Given the description of an element on the screen output the (x, y) to click on. 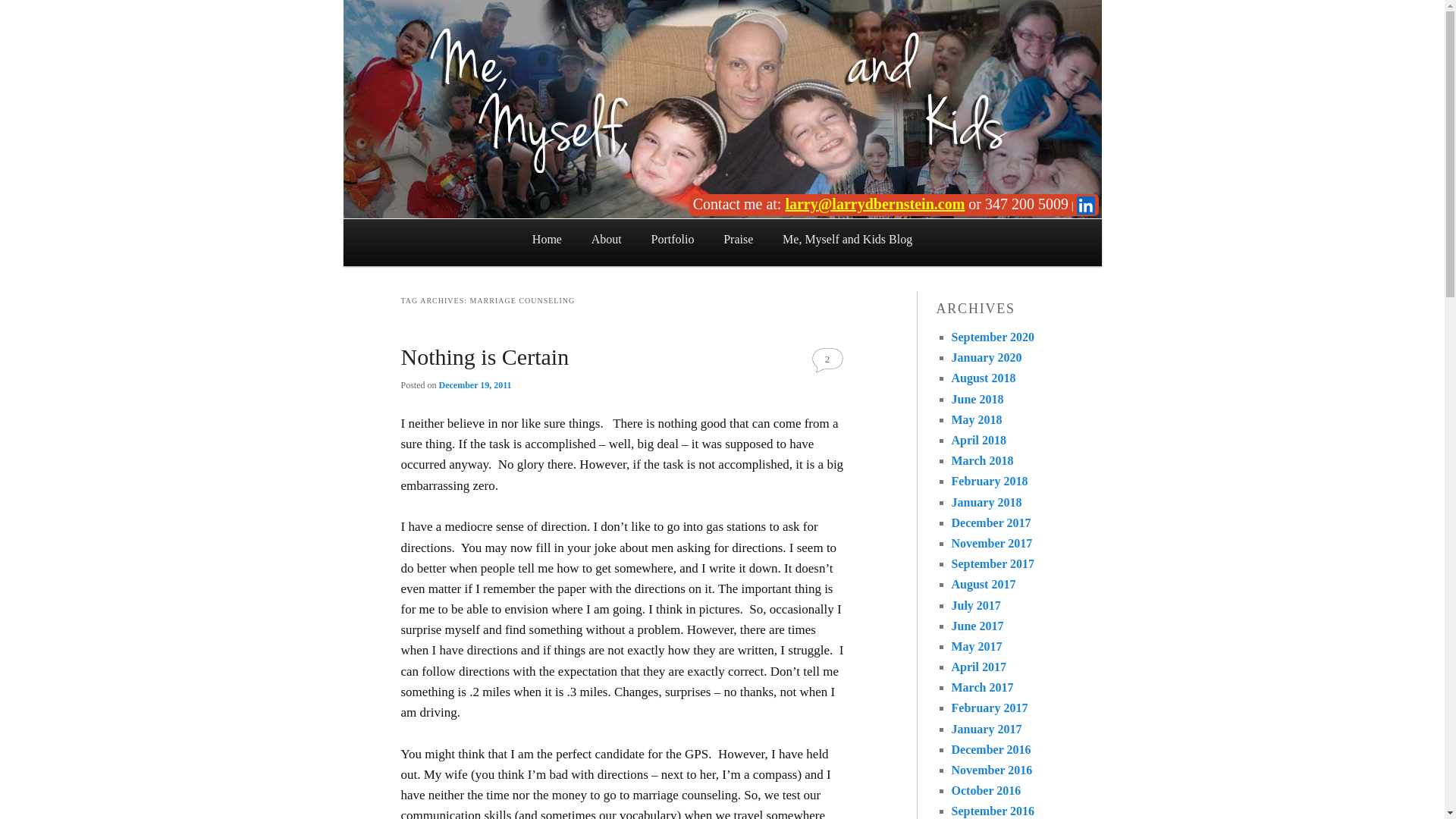
2 (827, 359)
March 2018 (981, 460)
April 2018 (978, 440)
September 2017 (991, 563)
February 2018 (988, 481)
Portfolio (672, 239)
Nothing is Certain (484, 356)
December 2017 (990, 522)
November 2017 (991, 543)
Me, Myself and Kids Blog (847, 239)
About (606, 239)
January 2020 (986, 357)
3:39 am (475, 385)
